Given the description of an element on the screen output the (x, y) to click on. 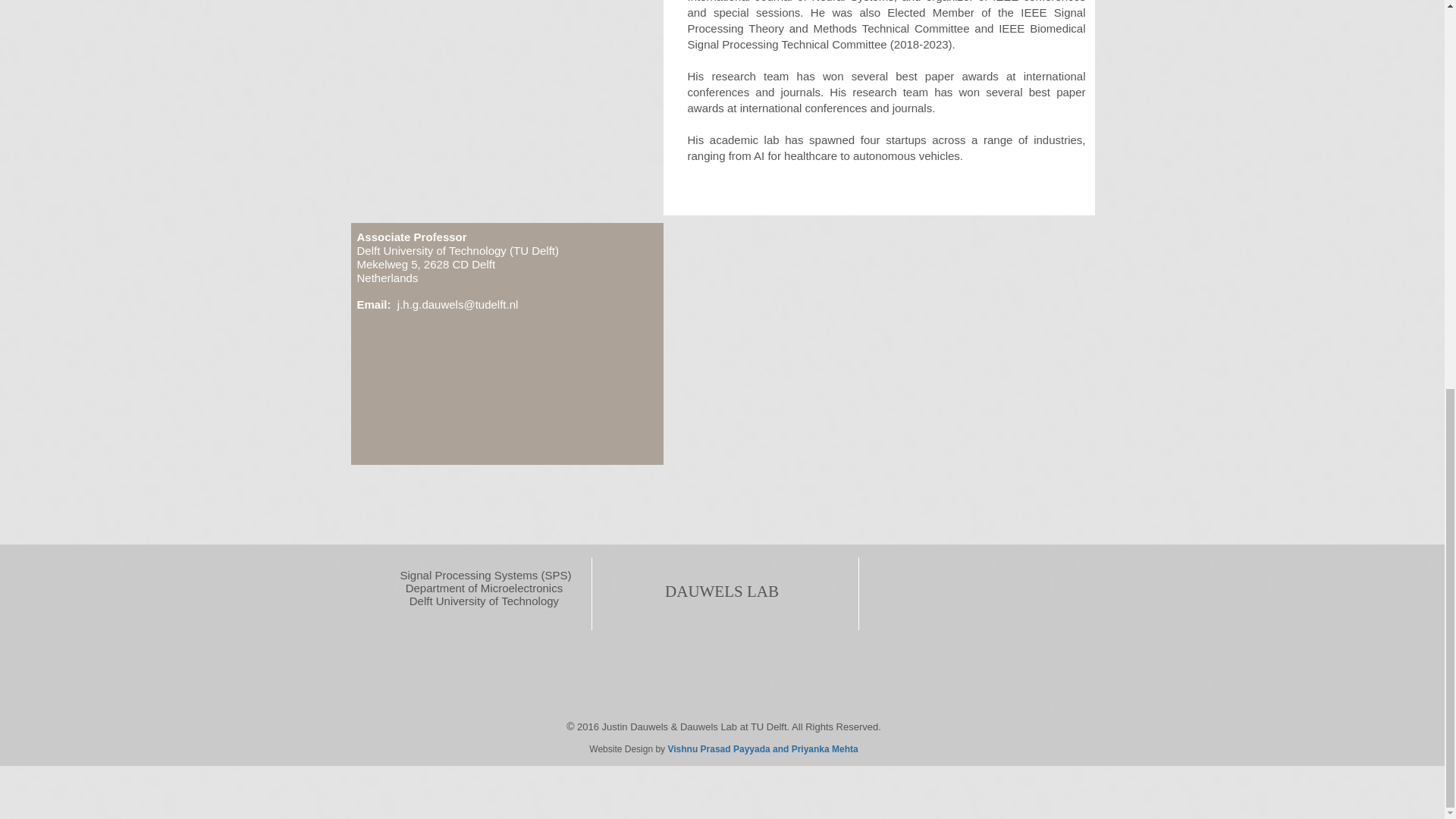
DAUWELS LAB (721, 591)
Vishnu Prasad Payyada and Priyanka Mehta (761, 748)
